Given the description of an element on the screen output the (x, y) to click on. 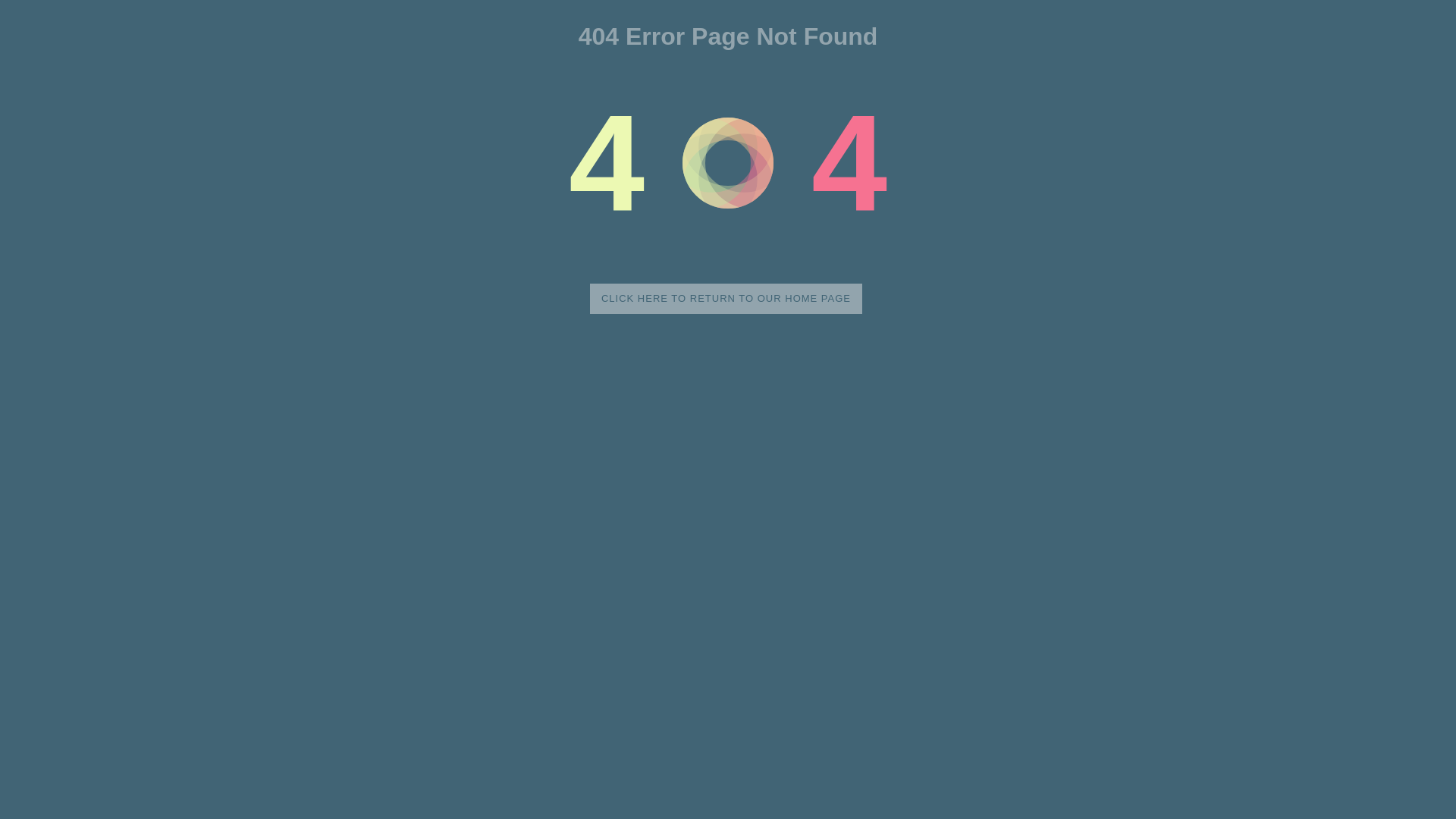
CLICK HERE TO RETURN TO OUR HOME PAGE Element type: text (725, 298)
